Given the description of an element on the screen output the (x, y) to click on. 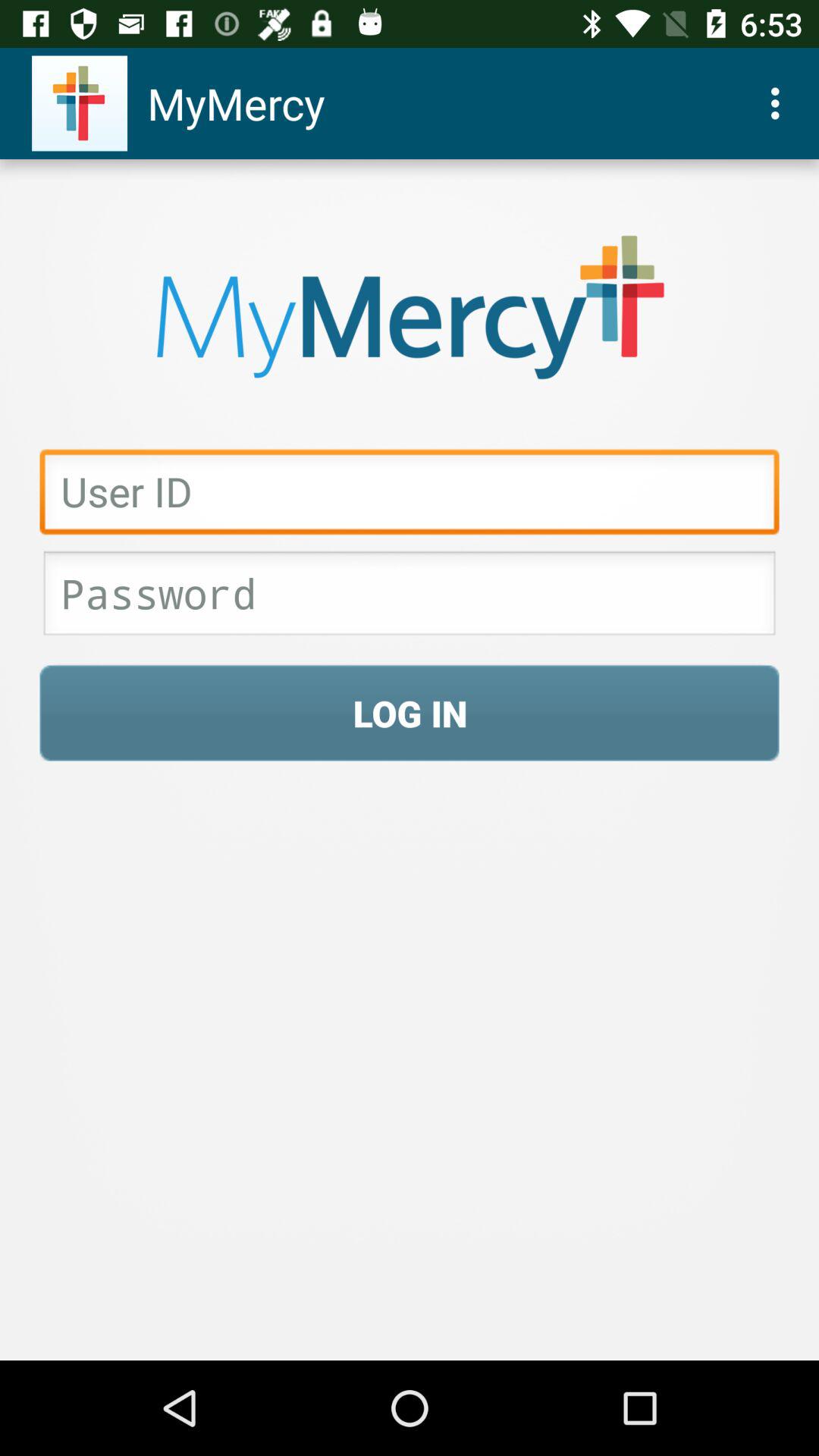
input user id (409, 495)
